Given the description of an element on the screen output the (x, y) to click on. 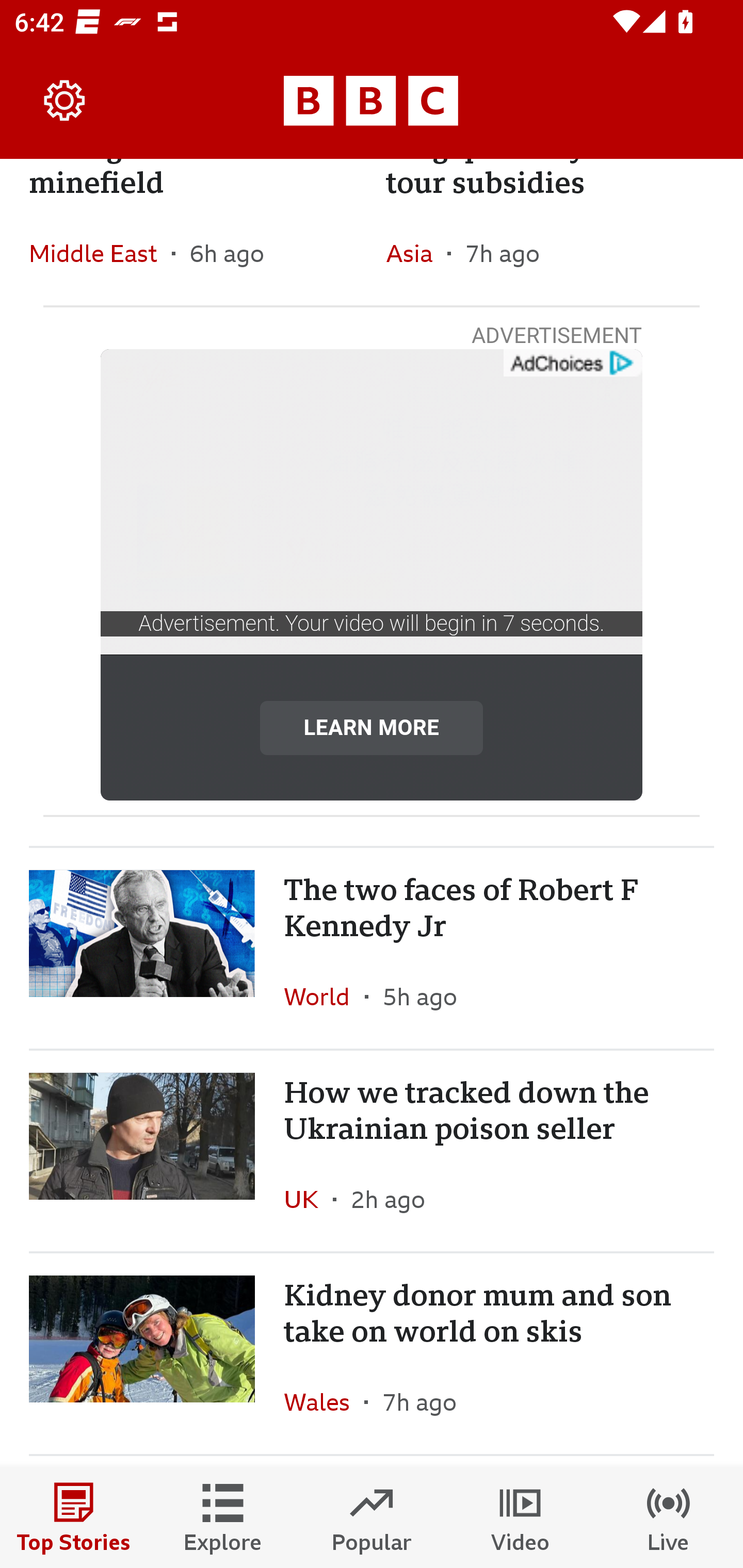
Settings (64, 100)
Middle East In the section Middle East (99, 252)
Asia In the section Asia (416, 252)
get?name=admarker-full-tl (571, 363)
LEARN MORE (371, 727)
World In the section World (323, 995)
UK In the section UK (307, 1199)
Wales In the section Wales (323, 1401)
Explore (222, 1517)
Popular (371, 1517)
Video (519, 1517)
Live (668, 1517)
